Given the description of an element on the screen output the (x, y) to click on. 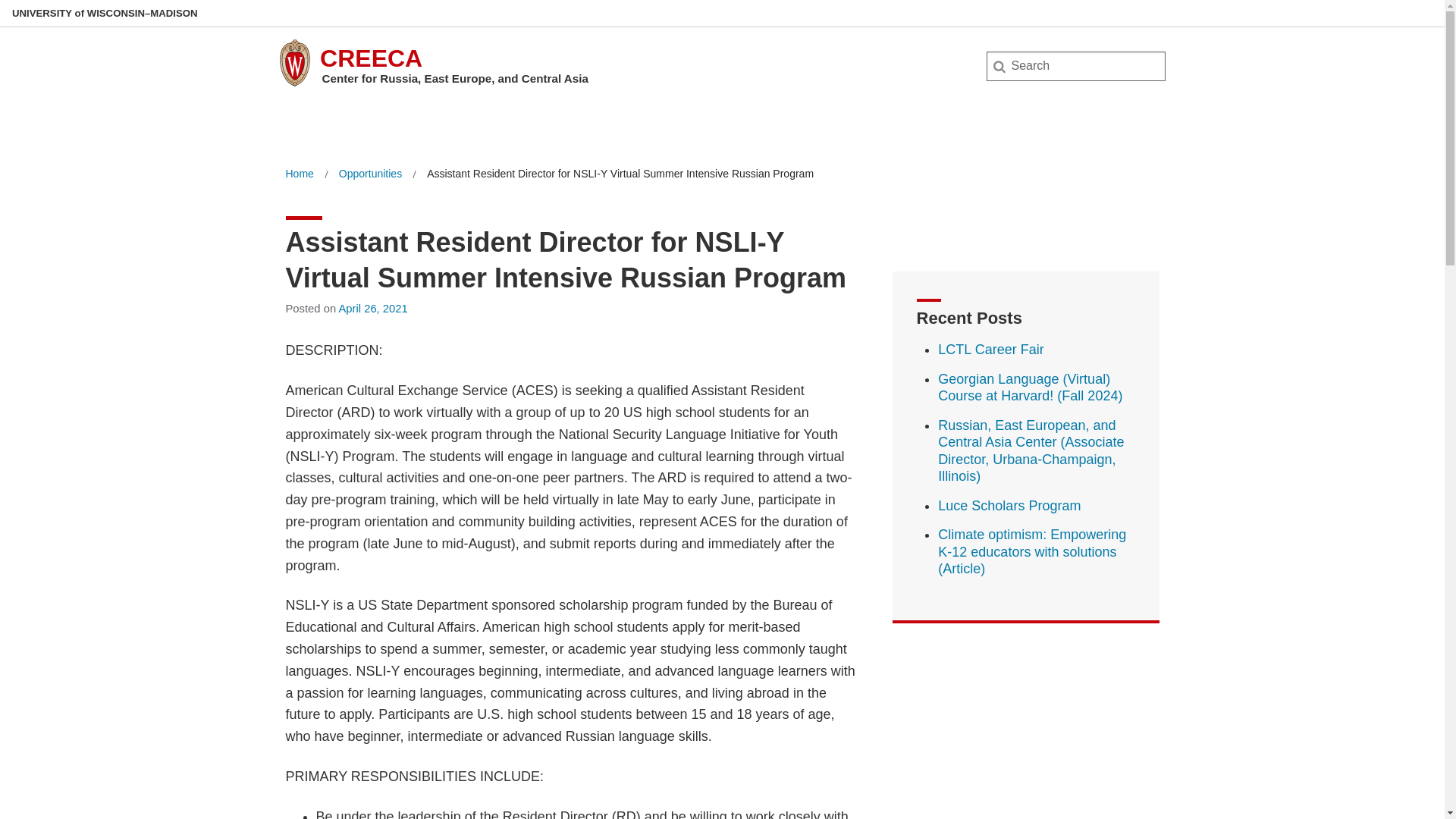
Home (299, 173)
Search (37, 16)
Skip to main content (3, 3)
CREECA (371, 58)
Opportunities (370, 173)
